Given the description of an element on the screen output the (x, y) to click on. 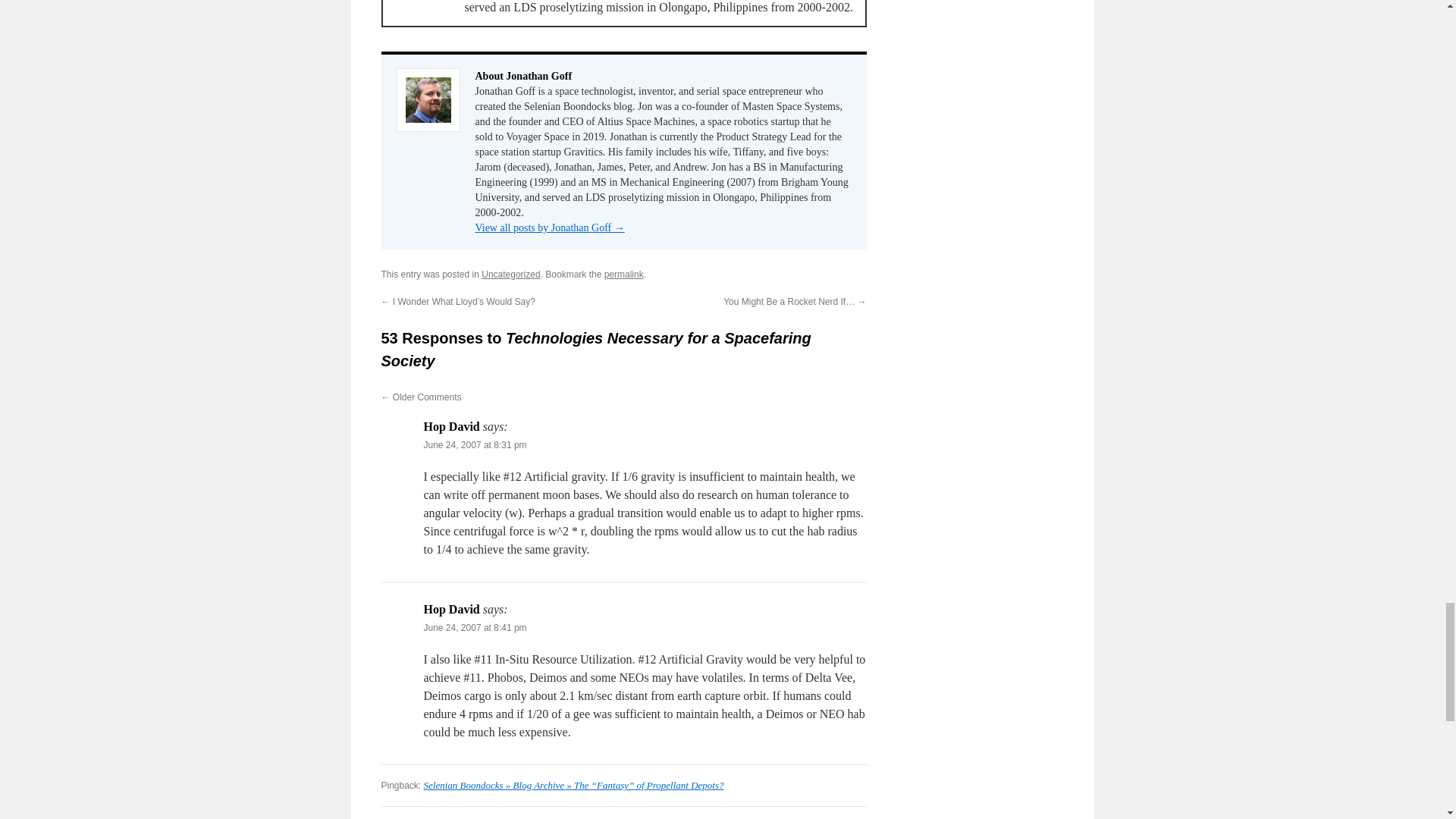
June 24, 2007 at 8:31 pm (474, 444)
Uncategorized (510, 274)
June 24, 2007 at 8:41 pm (474, 627)
permalink (623, 274)
